Given the description of an element on the screen output the (x, y) to click on. 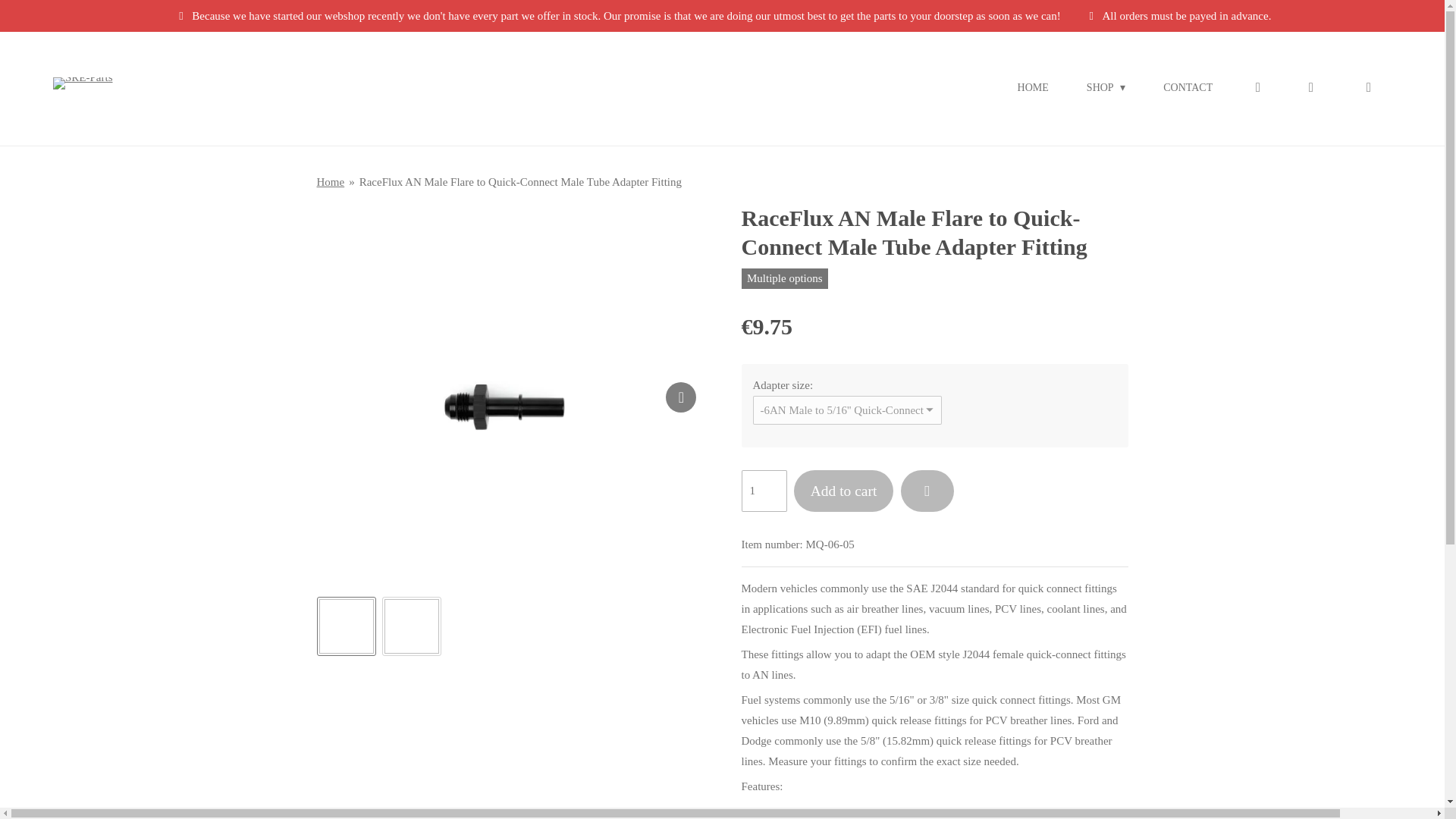
Search (1310, 87)
Account (1257, 87)
Add to wishlist (927, 490)
HOME (1033, 87)
Add to cart (843, 490)
1 (764, 490)
SHOP (1105, 87)
SRE-Parts (82, 87)
Cart (1365, 87)
